Given the description of an element on the screen output the (x, y) to click on. 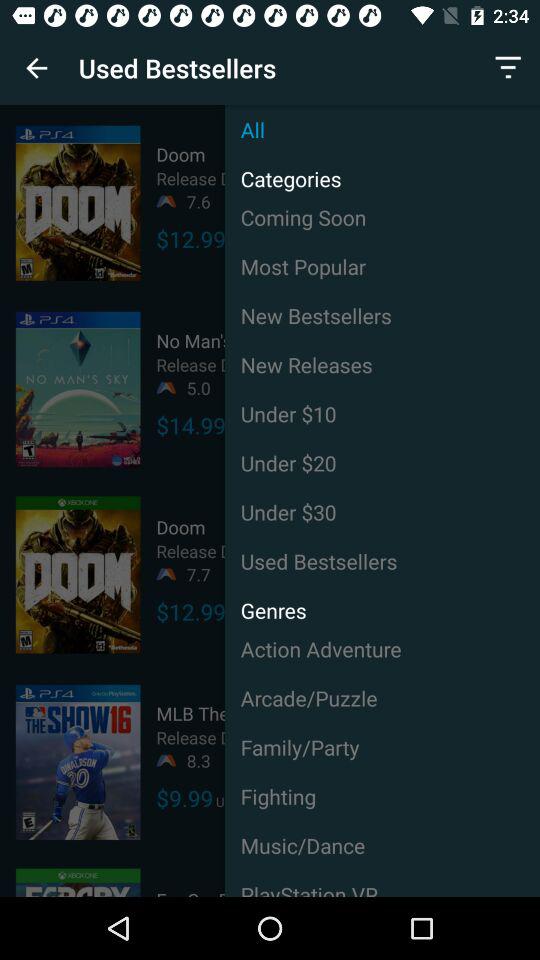
press item to the left of used bestsellers (36, 68)
